Given the description of an element on the screen output the (x, y) to click on. 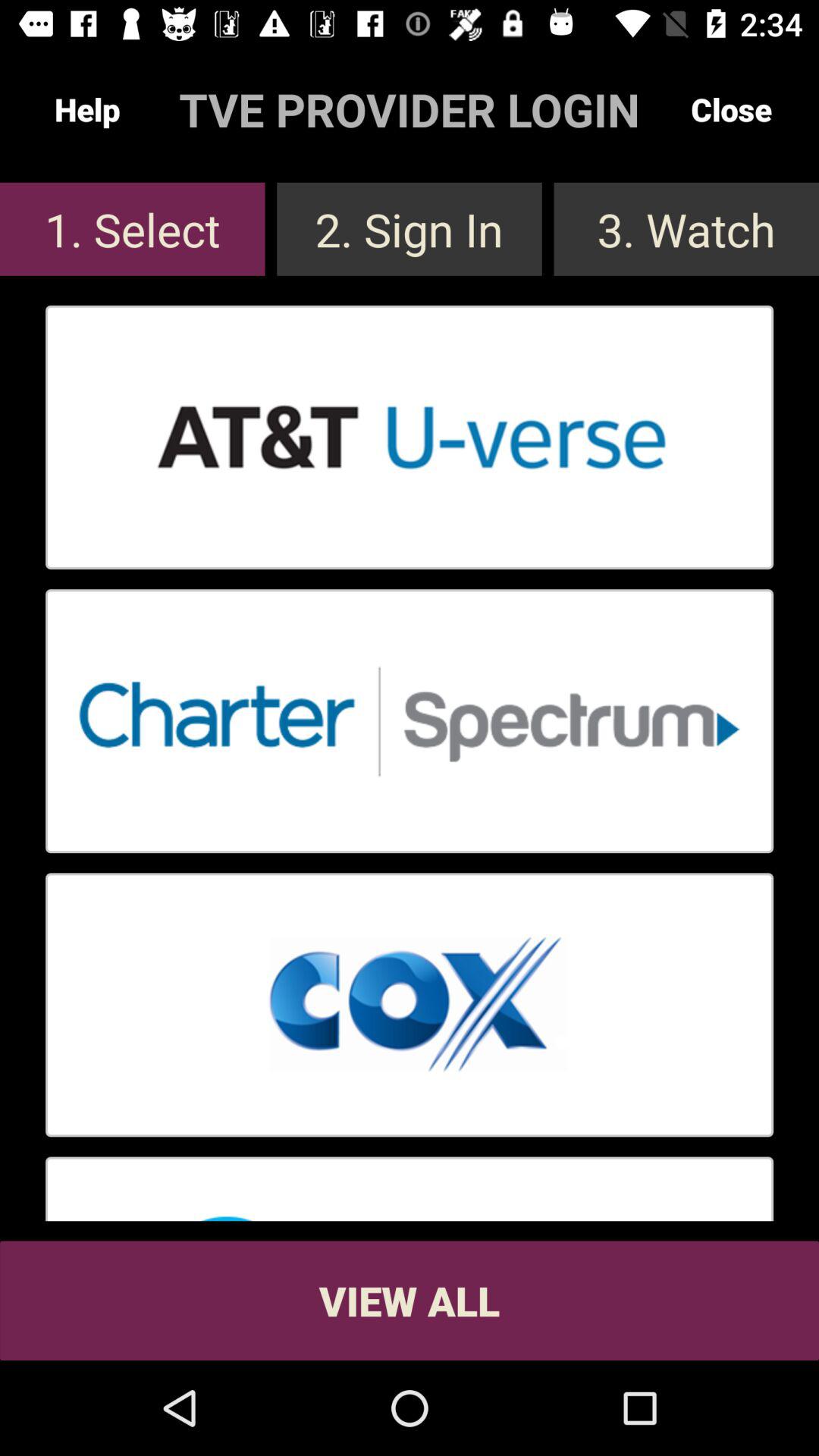
choose the icon to the left of tve provider login item (87, 108)
